Given the description of an element on the screen output the (x, y) to click on. 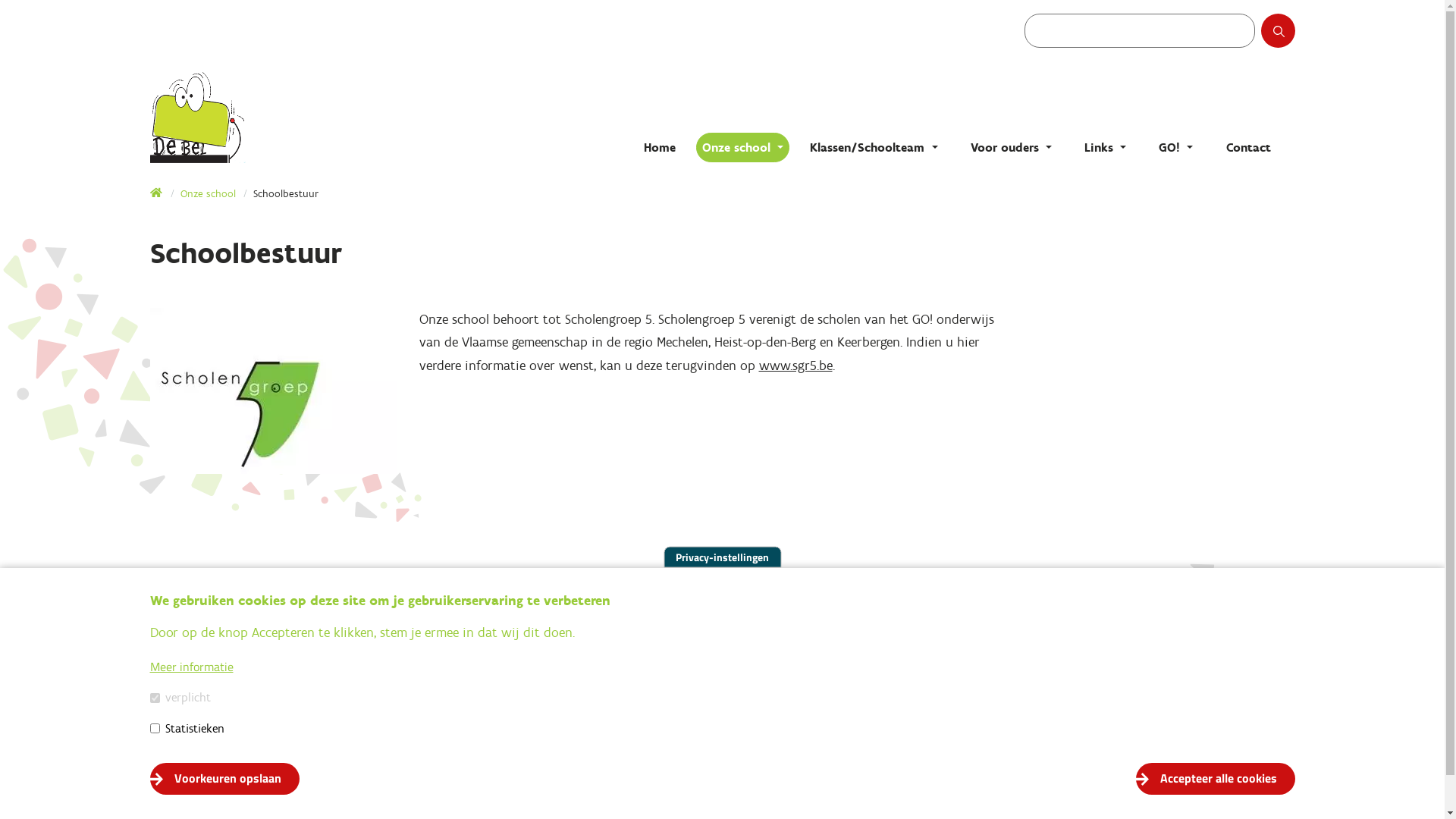
Ga naar de homepage Element type: hover (301, 117)
Zoeken Element type: text (1291, 35)
Contact Element type: text (1247, 147)
www.sgr5.be Element type: text (794, 365)
Home Element type: text (156, 193)
Meer informatie Element type: text (191, 666)
Voorkeuren opslaan Element type: text (224, 778)
Klassen/Schoolteam Element type: text (873, 147)
Home Element type: text (659, 147)
Toestemming intrekken Element type: text (1314, 770)
Onze school Element type: text (742, 147)
Accepteer alle cookies Element type: text (1215, 778)
Onze school Element type: text (207, 193)
info@debel.be Element type: text (224, 753)
Links Element type: text (1105, 147)
Voor ouders Element type: text (1010, 147)
Privacy-instellingen Element type: text (722, 556)
Naar de inhoud Element type: text (0, 0)
015 67 69 21 Element type: text (218, 729)
GO! Element type: text (1175, 147)
